Given the description of an element on the screen output the (x, y) to click on. 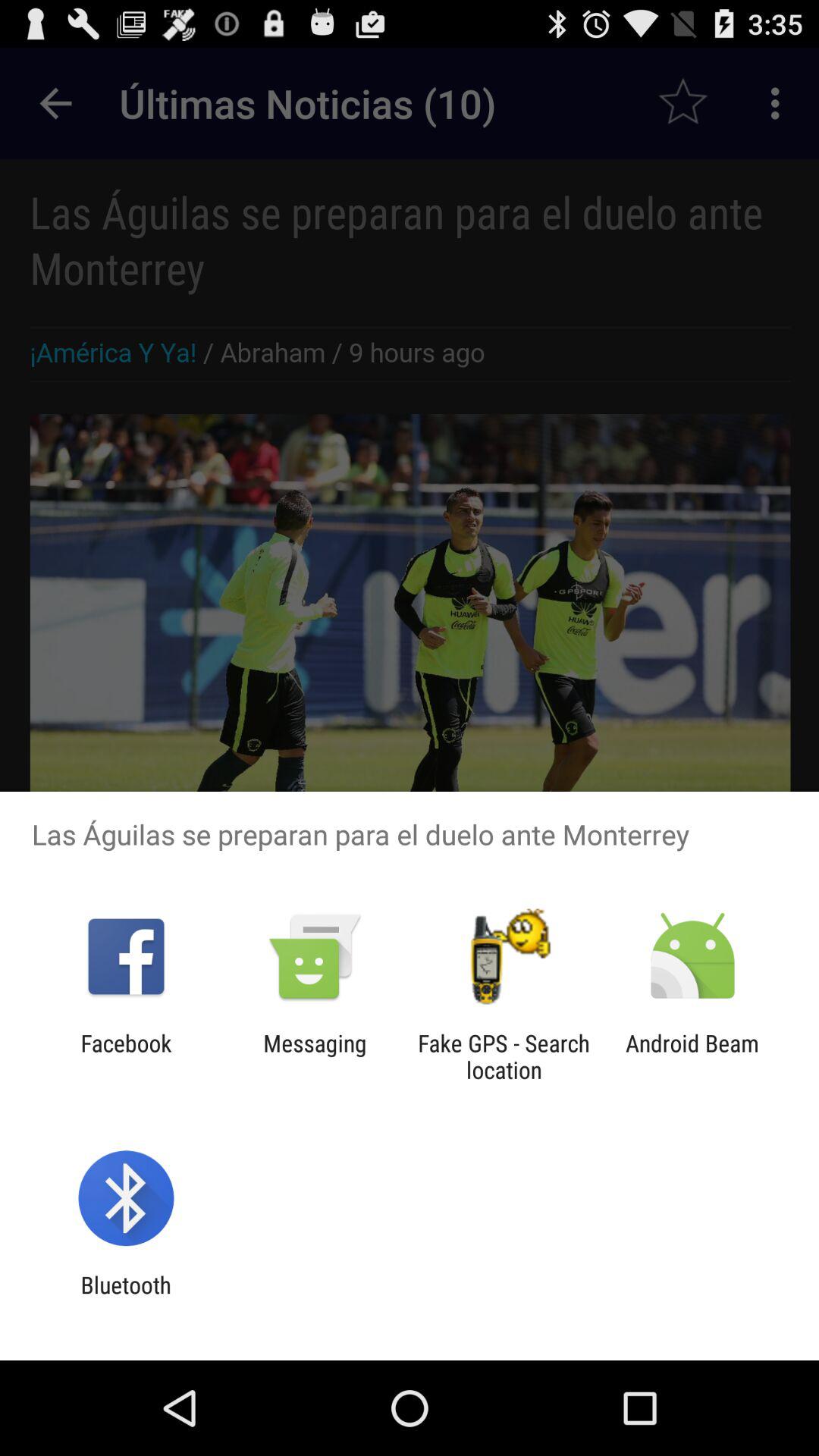
select fake gps search icon (503, 1056)
